Given the description of an element on the screen output the (x, y) to click on. 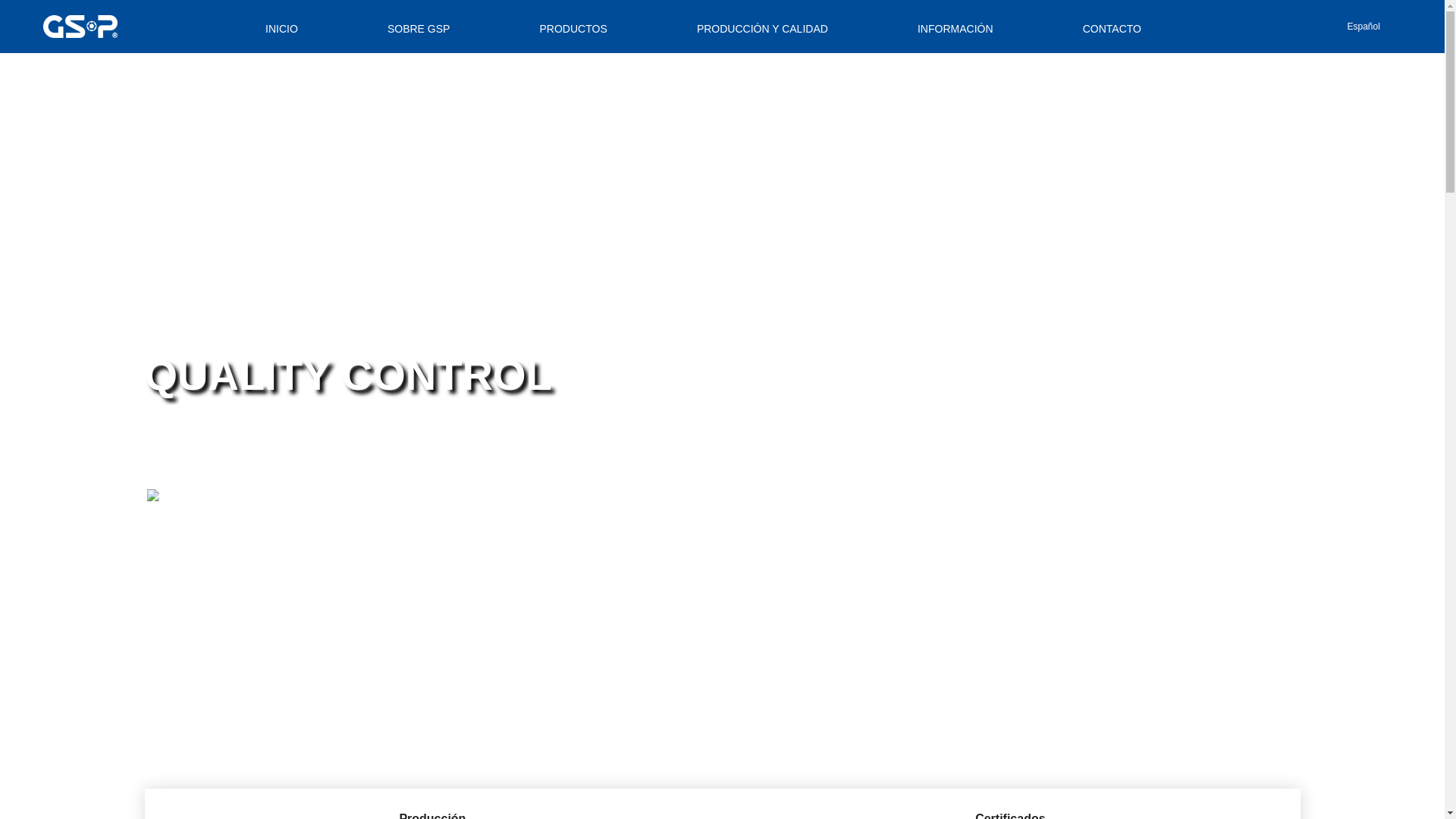
SOBRE GSP (418, 28)
PRODUCTOS (573, 28)
CONTACTO (1112, 28)
INICIO (281, 28)
